Given the description of an element on the screen output the (x, y) to click on. 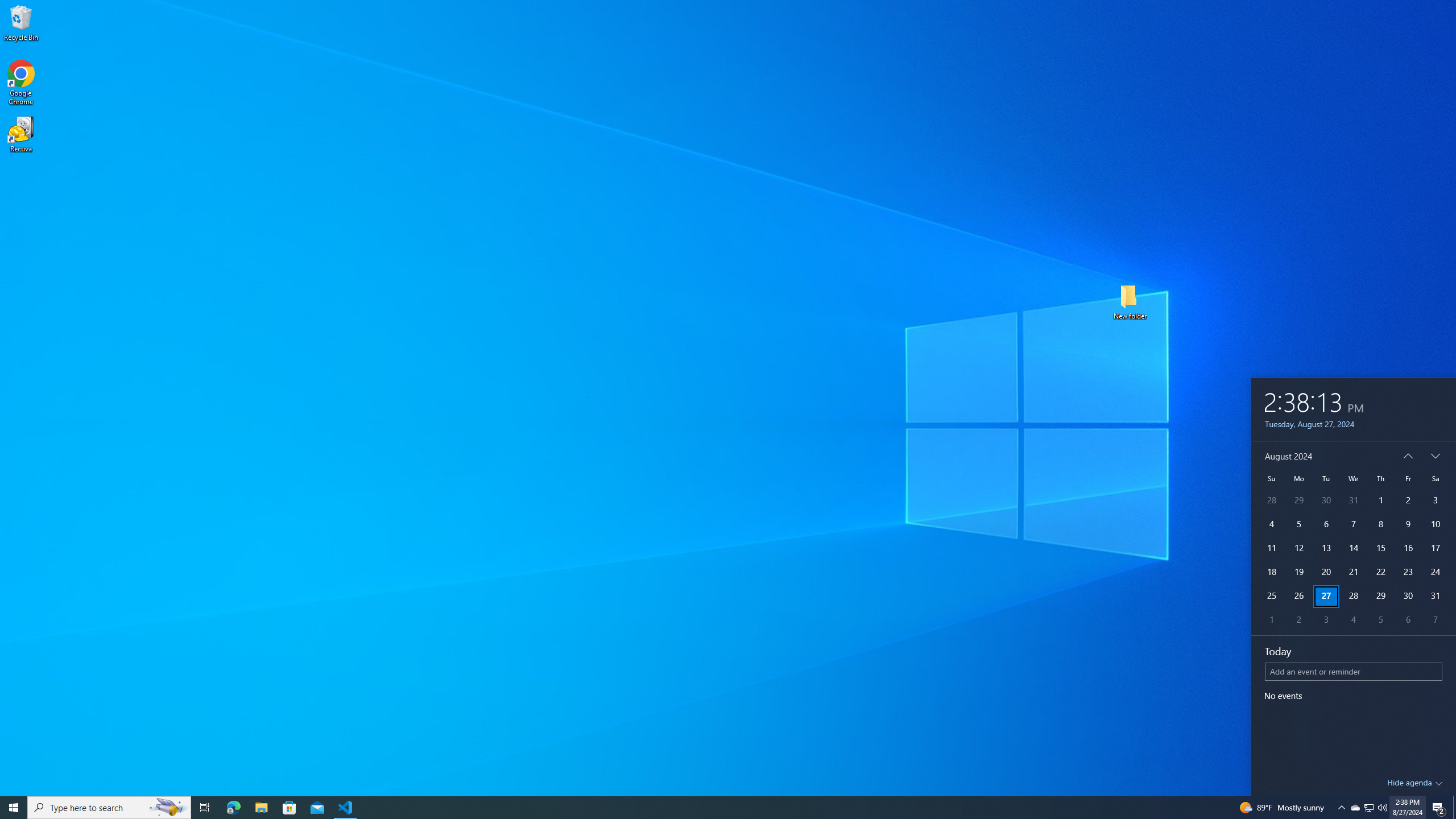
23 (1407, 572)
1 (1270, 620)
19 (1368, 807)
7 (1298, 572)
31 (1435, 620)
8 (1435, 596)
27 (1380, 524)
30 (1326, 596)
Add an event or reminder (1407, 596)
3 (1353, 671)
